Given the description of an element on the screen output the (x, y) to click on. 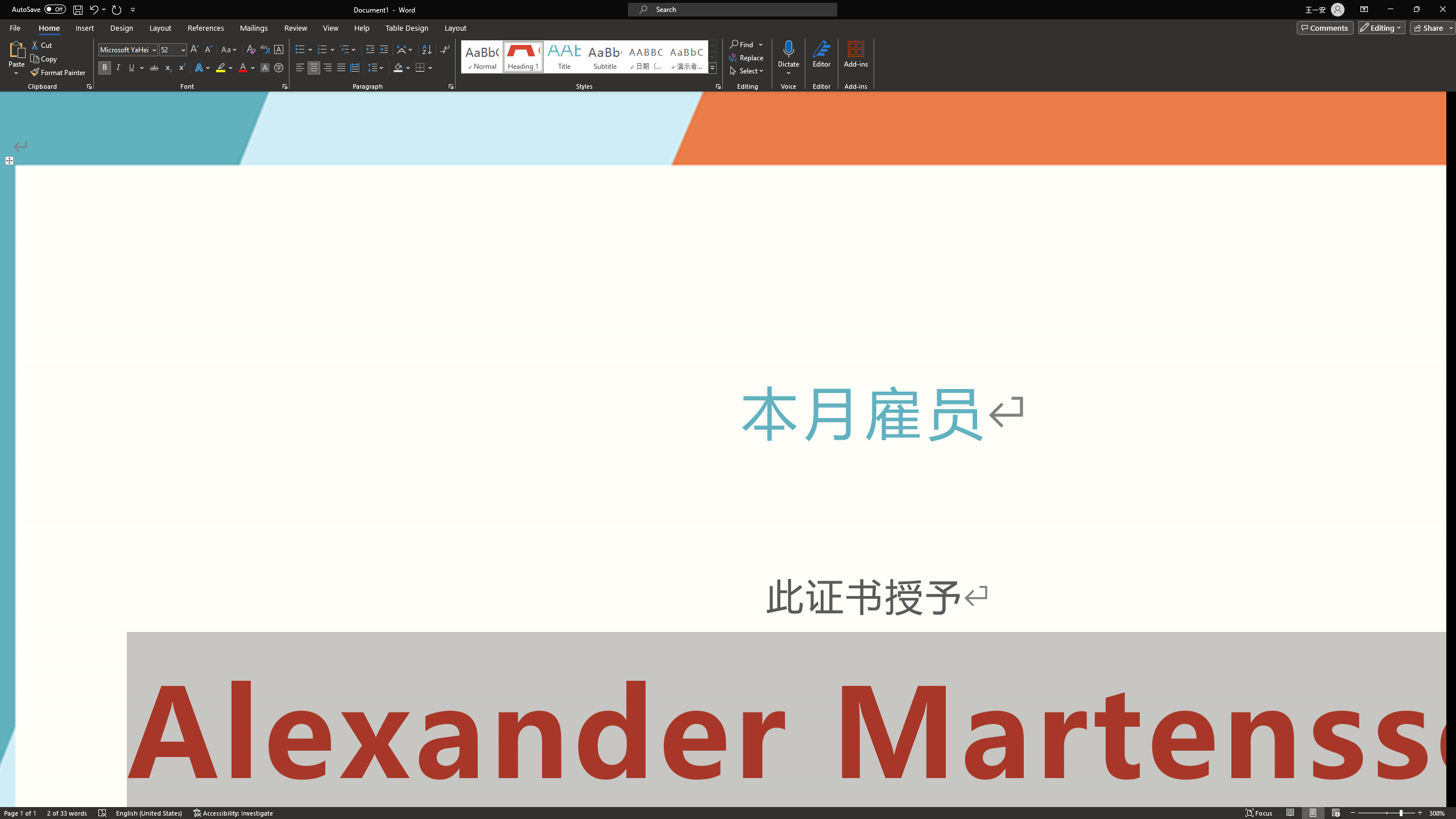
Spelling and Grammar Check No Errors (105, 790)
Column right (1441, 778)
Page 1 content (722, 467)
Line down (1450, 768)
Page right (1283, 778)
Page down (1450, 588)
Word Count 2 of 33 words (69, 790)
Zoom 308% (1443, 790)
Column left (5, 778)
Page Number Page 1 of 1 (22, 790)
